Given the description of an element on the screen output the (x, y) to click on. 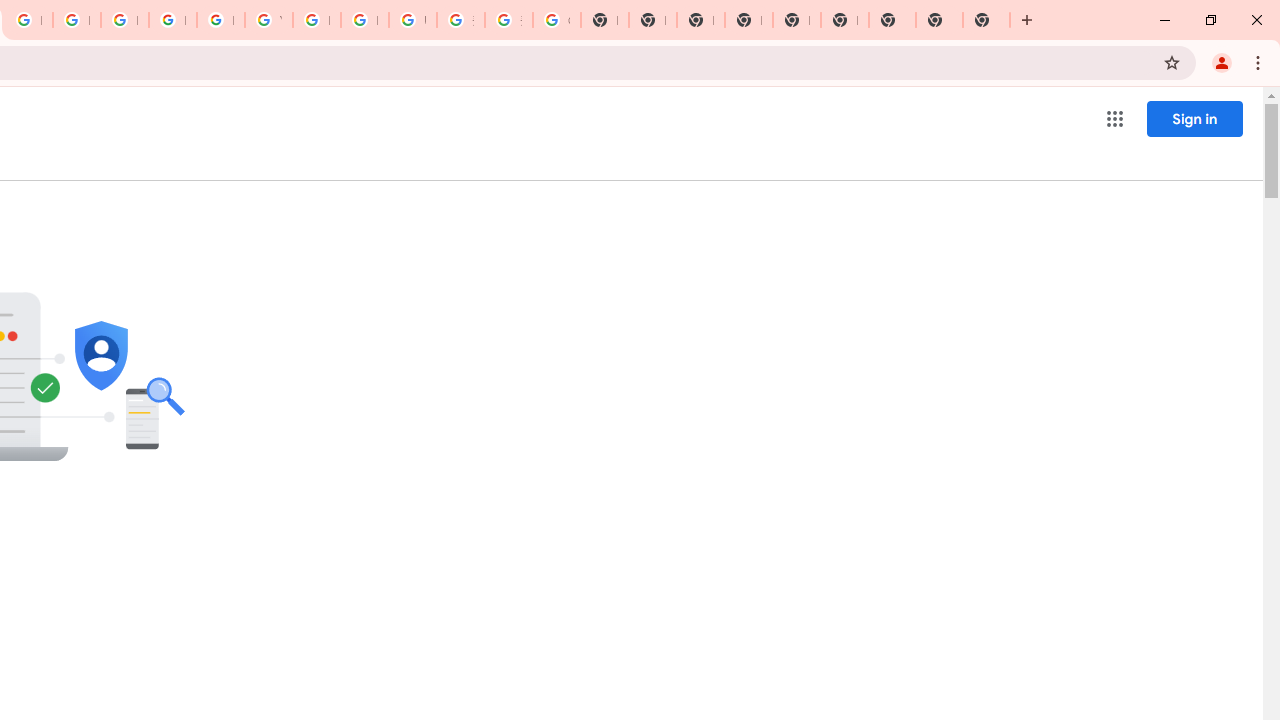
Google Images (556, 20)
Privacy Help Center - Policies Help (76, 20)
